Given the description of an element on the screen output the (x, y) to click on. 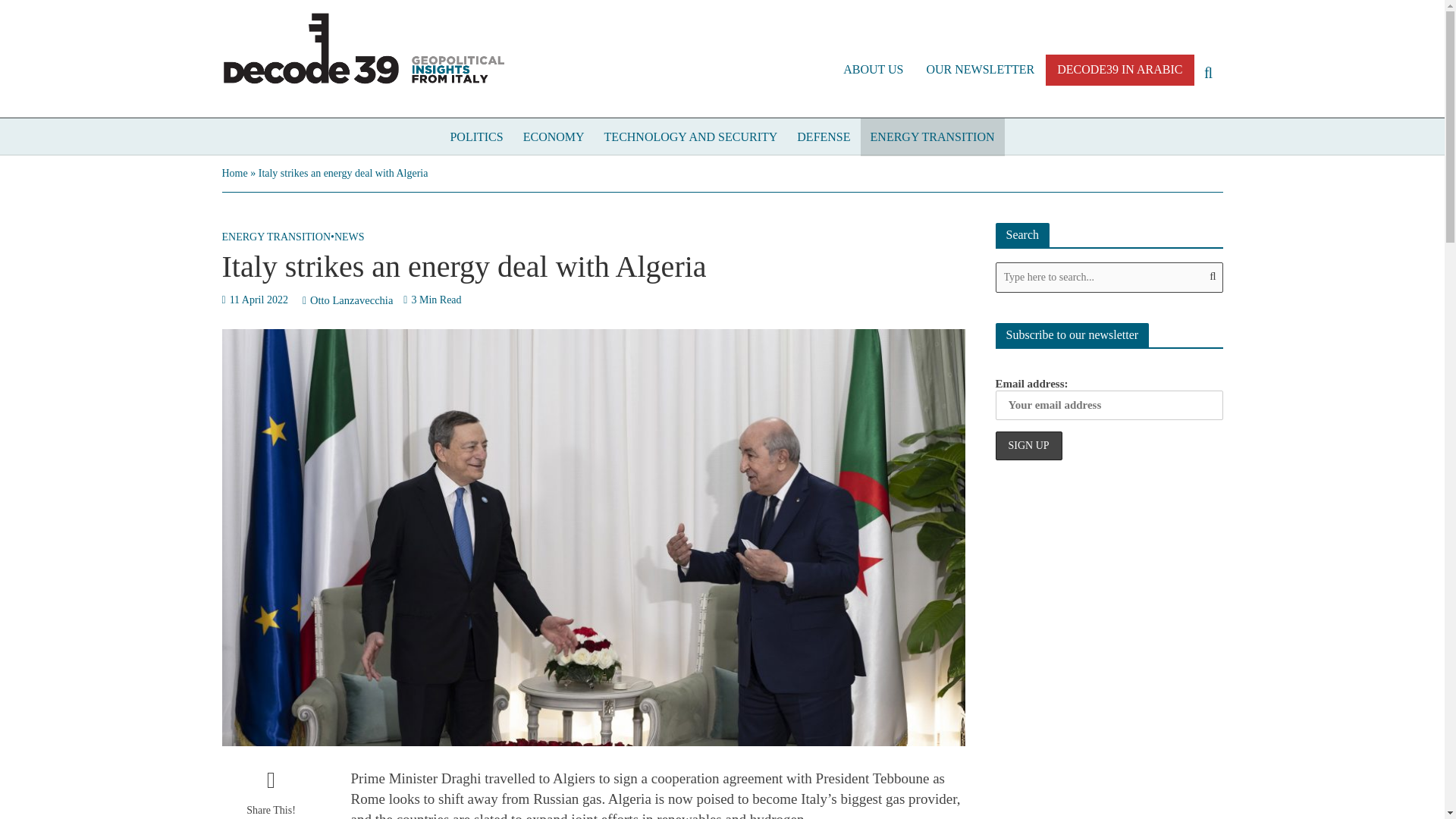
POLITICS (475, 136)
TECHNOLOGY AND SECURITY (690, 136)
Home (234, 173)
ENERGY TRANSITION (932, 136)
ENERGY TRANSITION (275, 239)
OUR NEWSLETTER (979, 69)
DECODE39 IN ARABIC (1119, 69)
NEWS (349, 239)
ECONOMY (553, 136)
ABOUT US (872, 69)
